Given the description of an element on the screen output the (x, y) to click on. 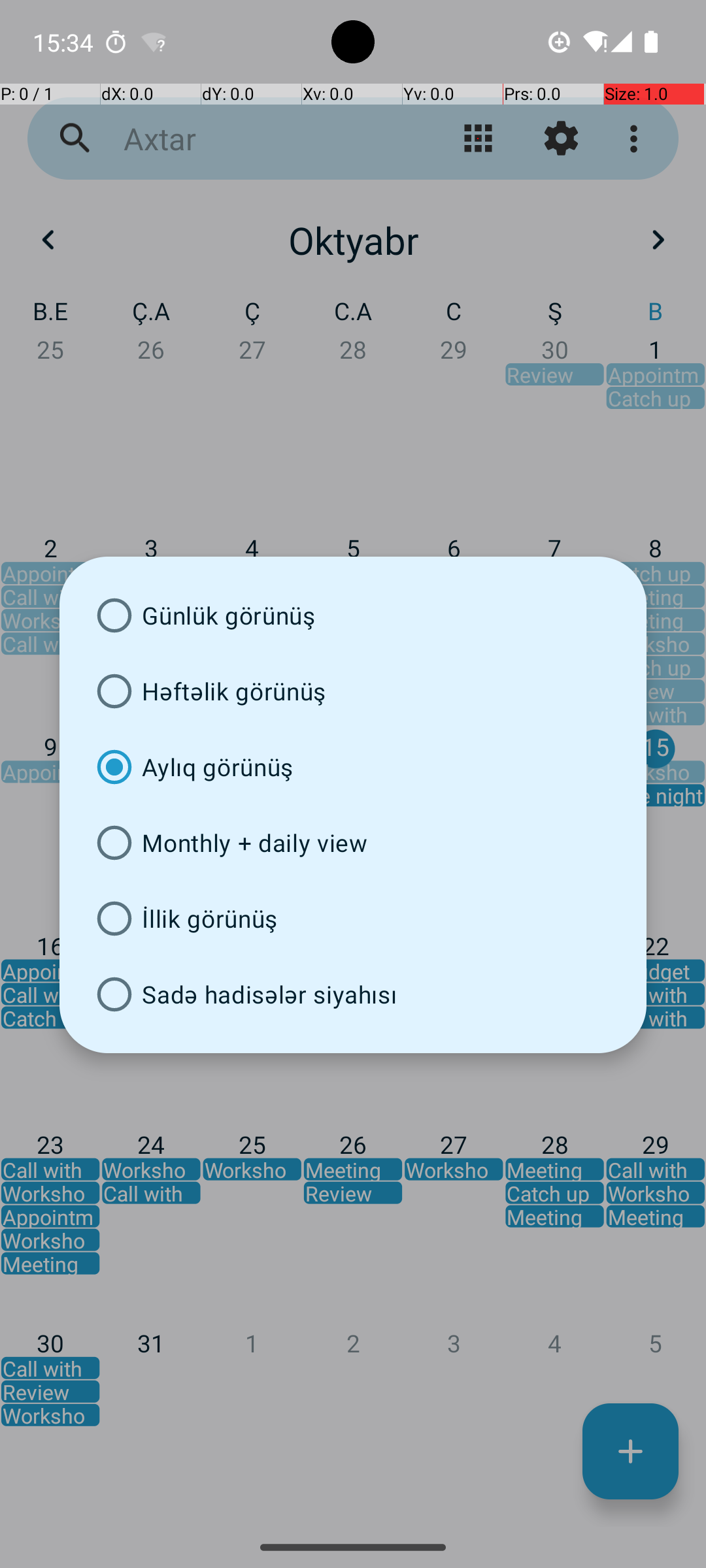
Günlük görünüş Element type: android.widget.RadioButton (352, 615)
Həftəlik görünüş Element type: android.widget.RadioButton (352, 691)
Aylıq görünüş Element type: android.widget.RadioButton (352, 766)
Monthly + daily view Element type: android.widget.RadioButton (352, 842)
İllik görünüş Element type: android.widget.RadioButton (352, 918)
Sadə hadisələr siyahısı Element type: android.widget.RadioButton (352, 994)
